Given the description of an element on the screen output the (x, y) to click on. 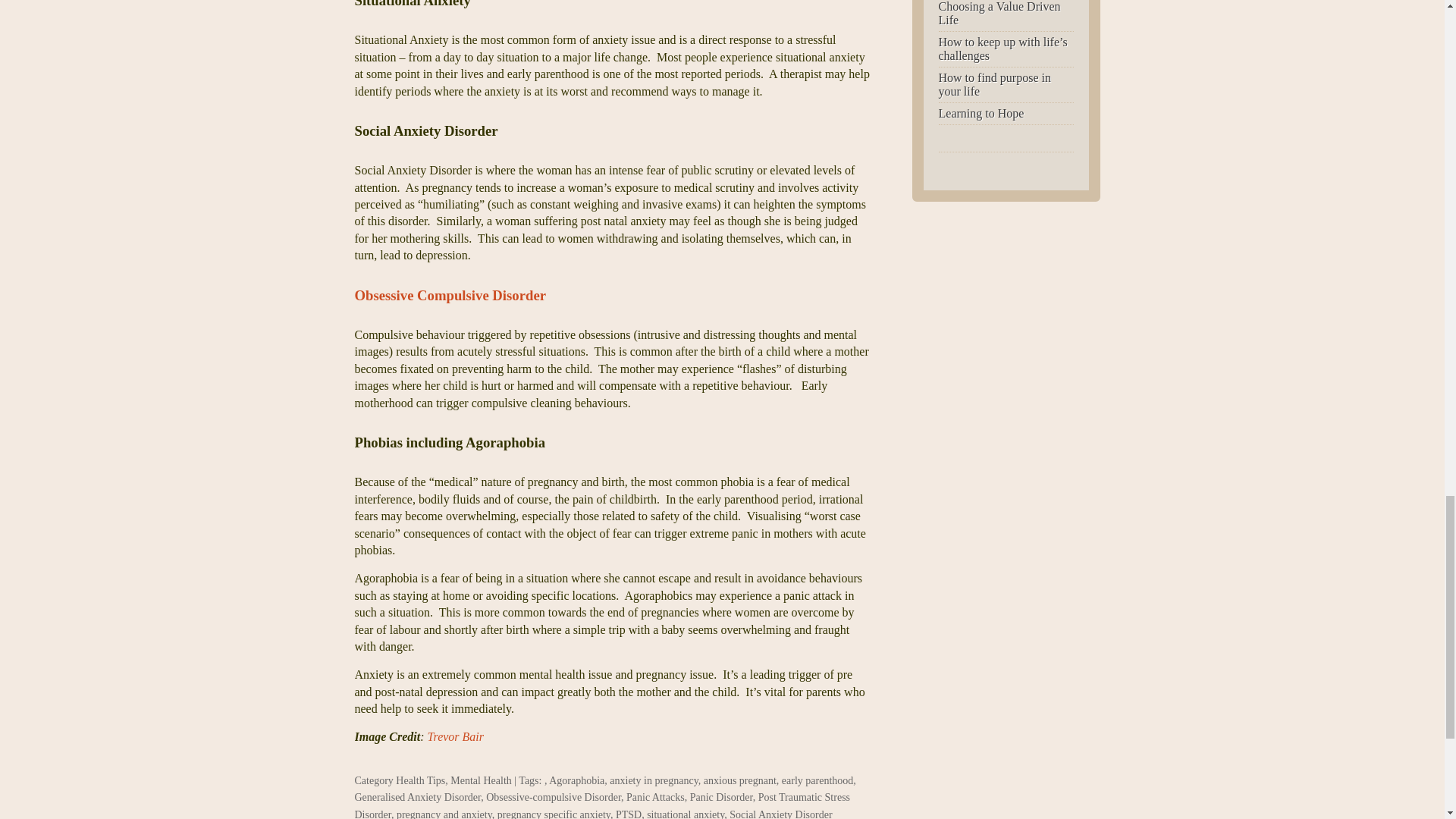
situational anxiety (684, 814)
Obsessive-compulsive Disorder (553, 797)
Panic Disorder (721, 797)
PTSD (628, 814)
Obsessive Compulsive Disorder (451, 295)
Generalised Anxiety Disorder (418, 797)
pregnancy and anxiety (444, 814)
anxious pregnant (739, 780)
Mental Health (480, 780)
pregnancy specific anxiety (553, 814)
anxiety in pregnancy (654, 780)
Agoraphobia (576, 780)
Health Tips (420, 780)
Trevor Bair (456, 736)
Post Traumatic Stress Disorder (602, 805)
